Given the description of an element on the screen output the (x, y) to click on. 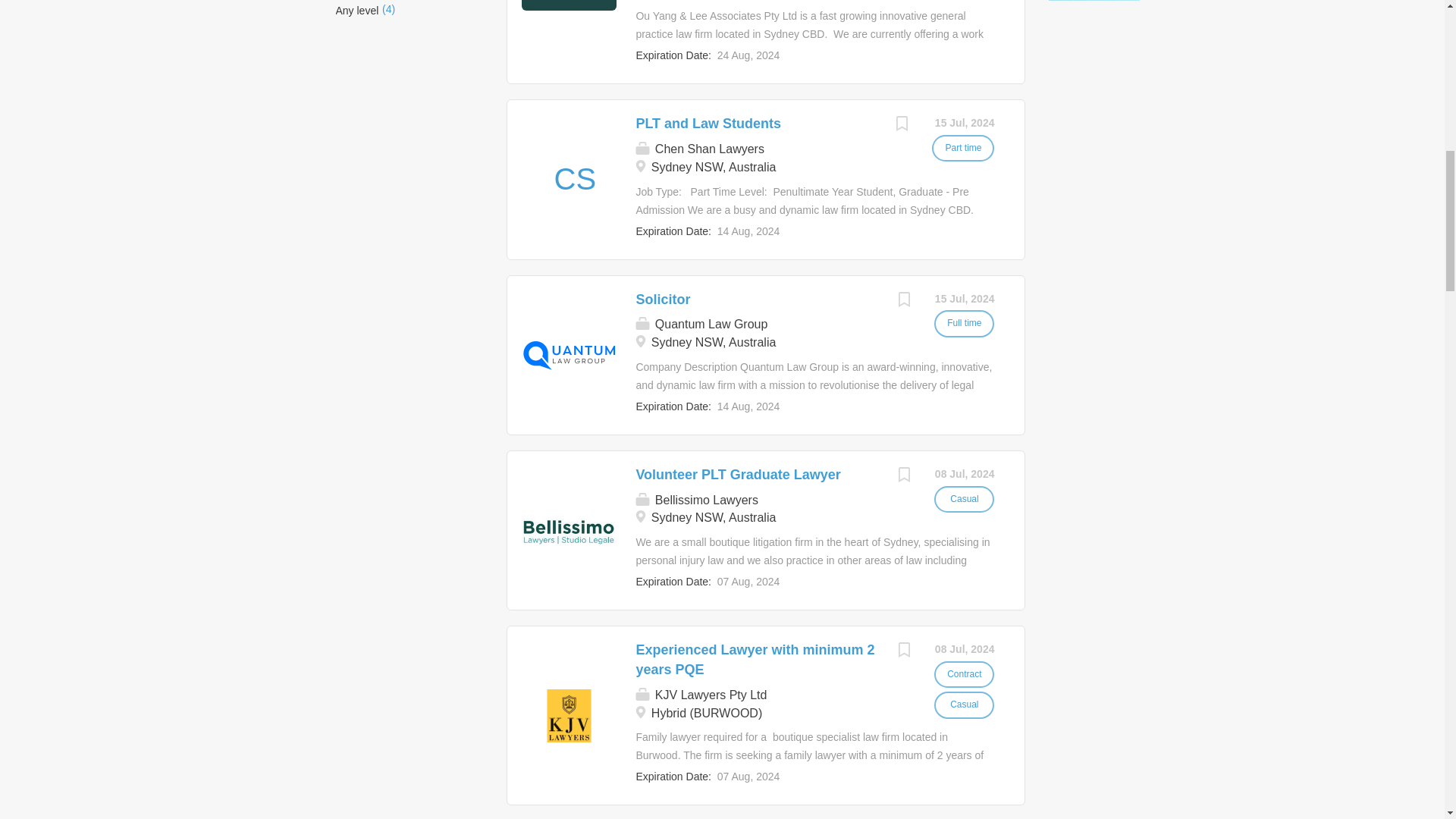
Chen Shan Lawyers (574, 179)
